Given the description of an element on the screen output the (x, y) to click on. 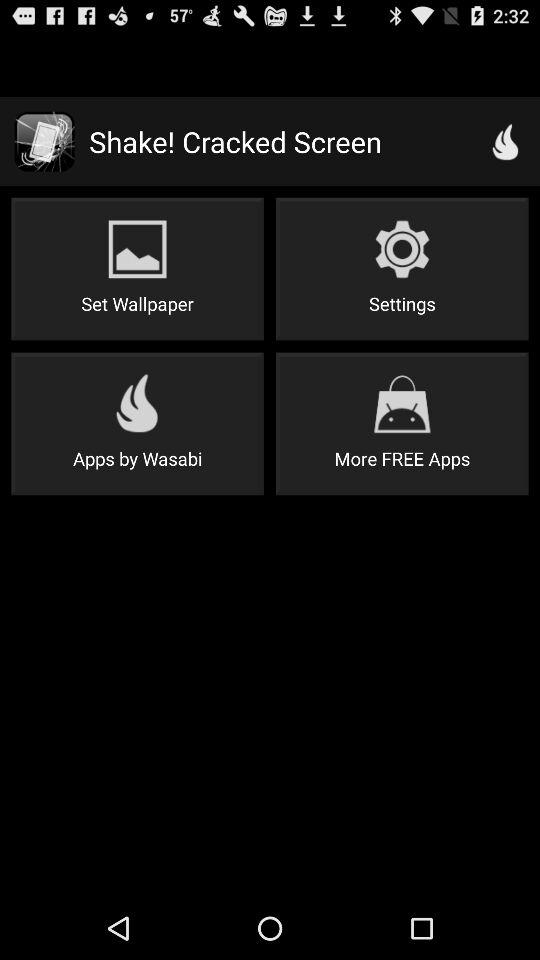
click button to the right of the apps by wasabi button (402, 423)
